Given the description of an element on the screen output the (x, y) to click on. 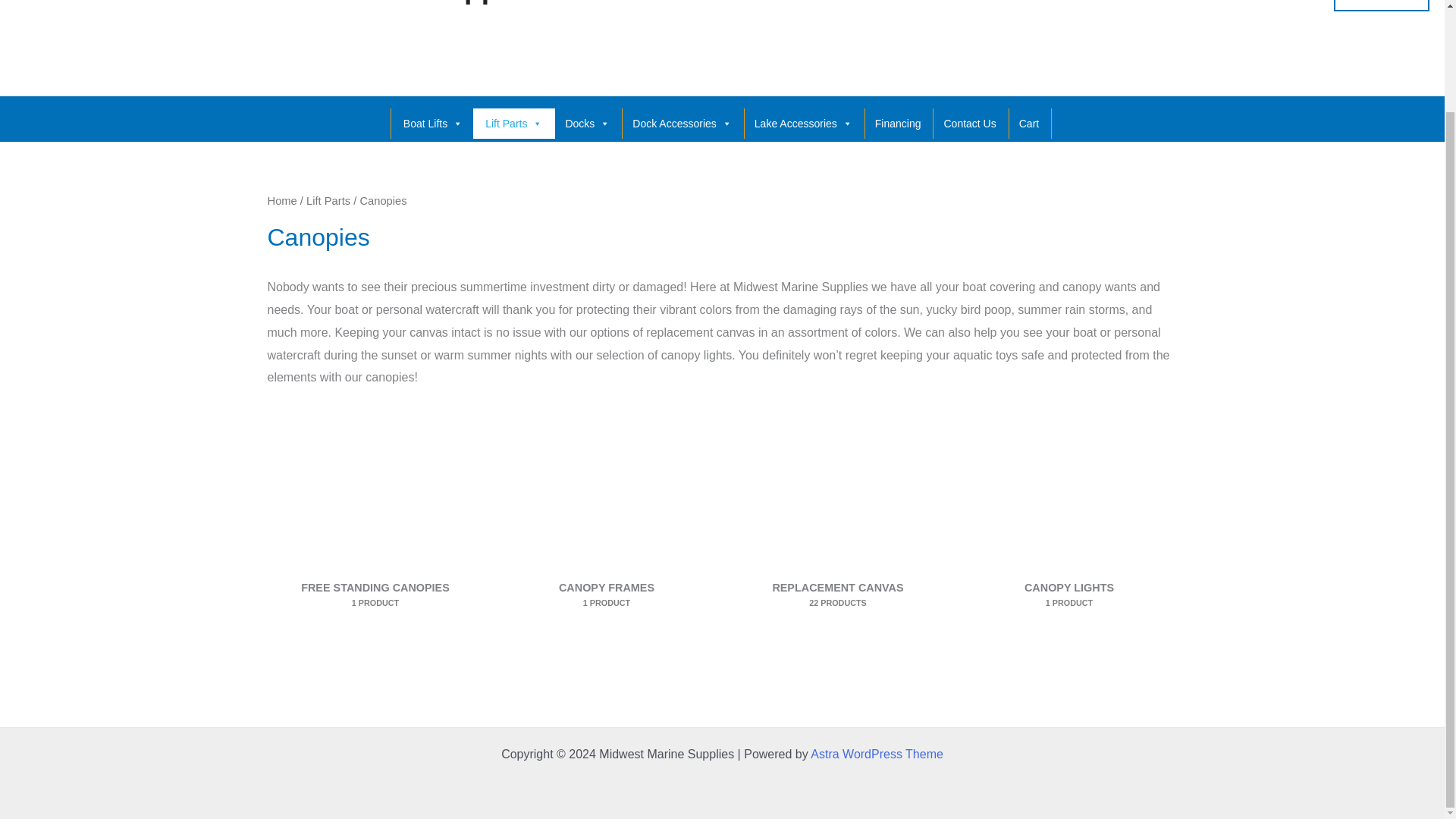
Midwest Marine Supplies (377, 2)
Lift Parts (513, 123)
Boat Lifts (433, 123)
